Given the description of an element on the screen output the (x, y) to click on. 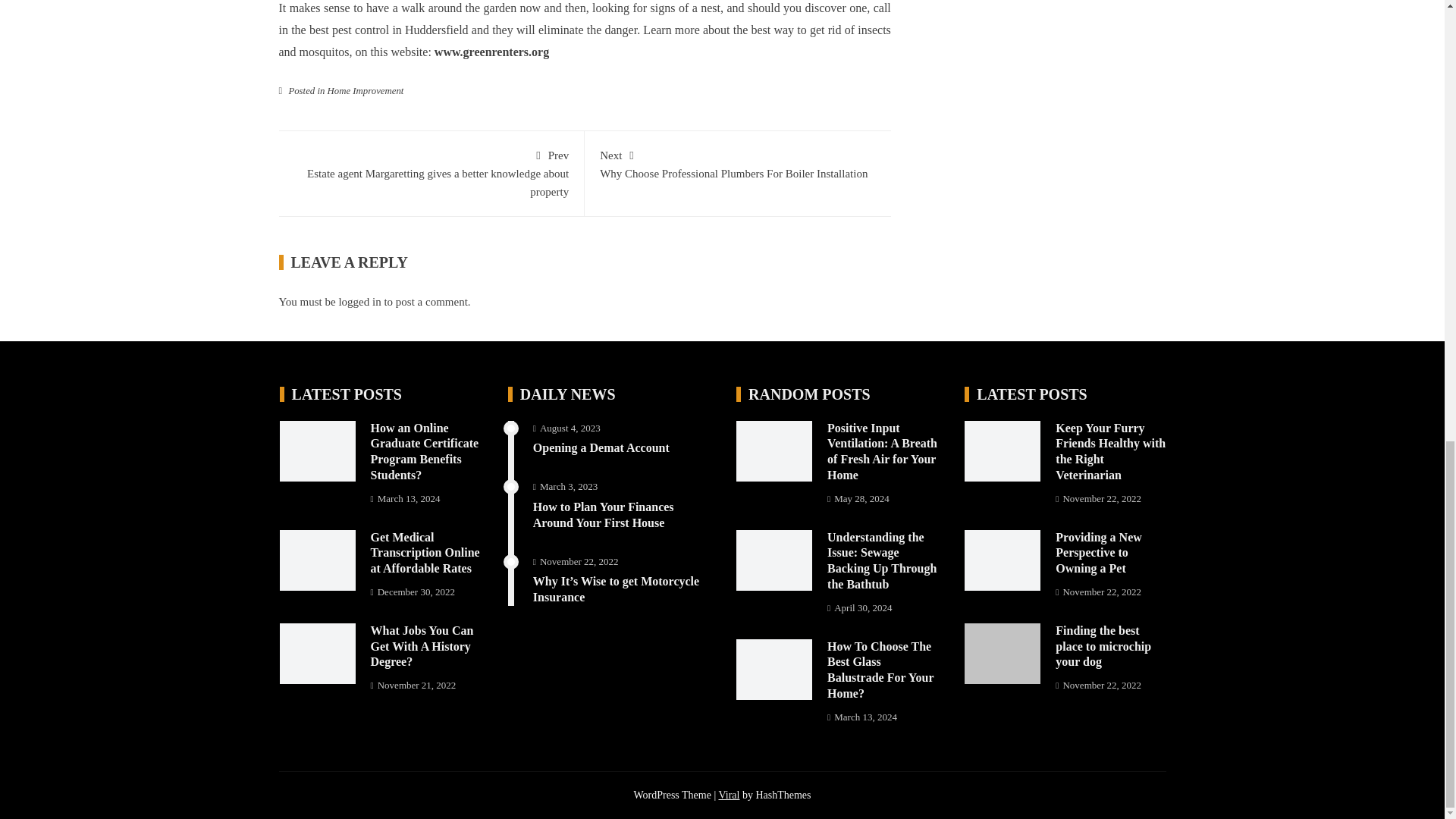
Home Improvement (365, 90)
Download Viral (728, 794)
www.greenrenters.org (490, 51)
call in the best pest control in Huddersfield (585, 18)
logged in (358, 301)
